Given the description of an element on the screen output the (x, y) to click on. 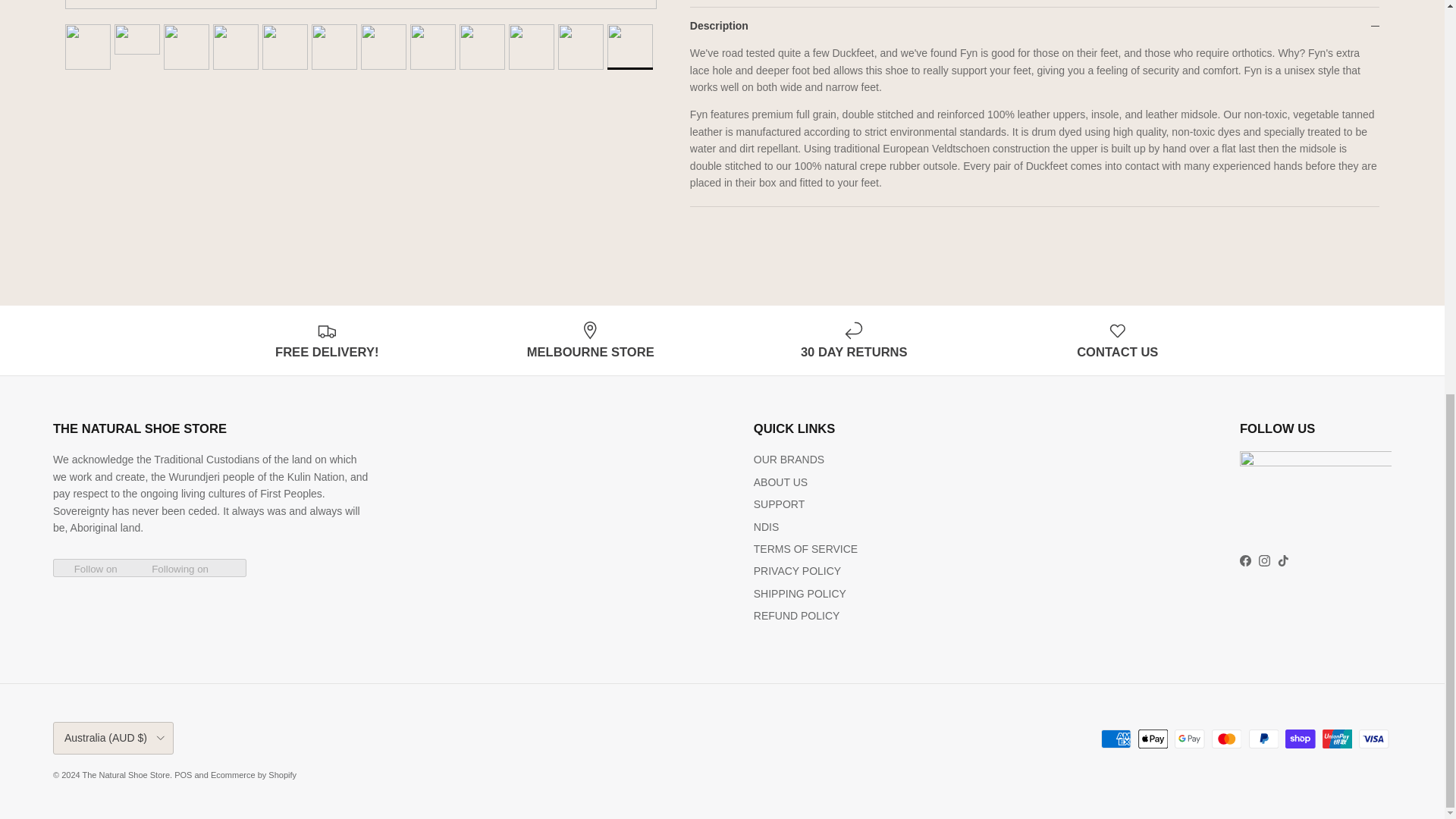
The Natural Shoe Store on Instagram (1264, 560)
The Natural Shoe Store on Facebook (1245, 560)
The Natural Shoe Store on TikTok (1283, 560)
